Given the description of an element on the screen output the (x, y) to click on. 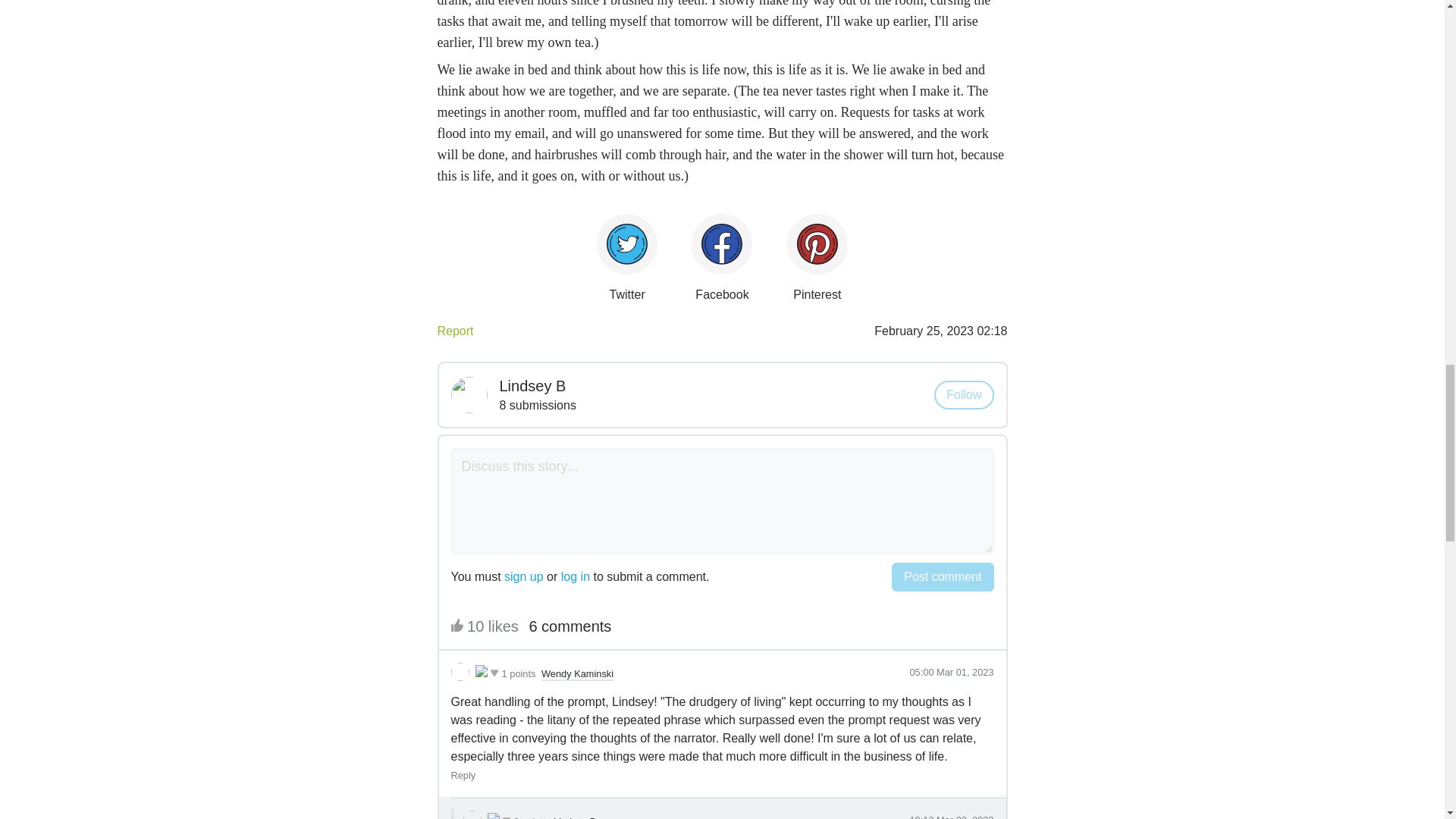
Post comment (941, 576)
